Given the description of an element on the screen output the (x, y) to click on. 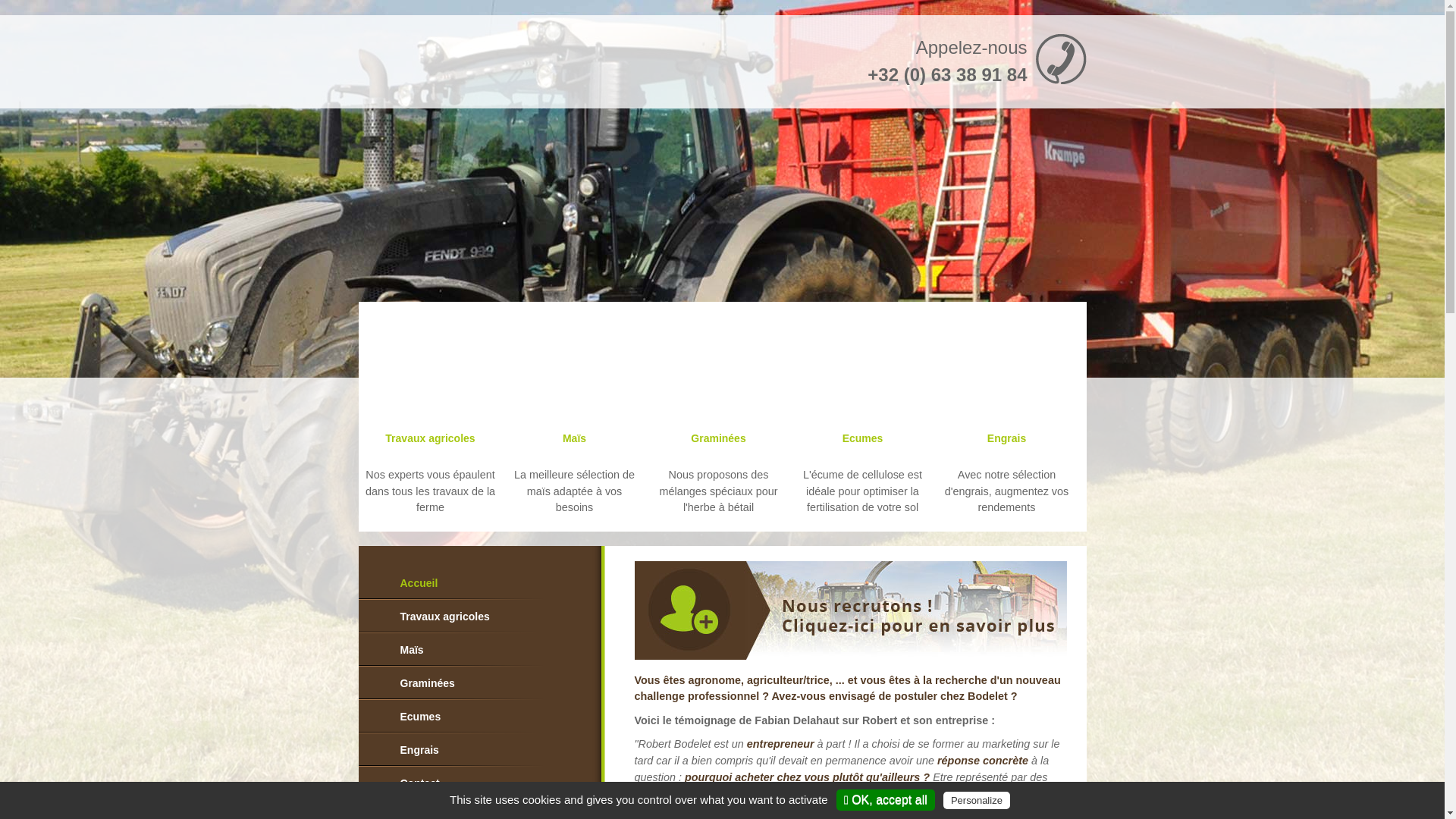
+32 (0) 63 38 91 84 Element type: text (946, 74)
Bodelet SCRL recrute ! Element type: hover (849, 610)
Travaux agricoles Element type: text (453, 616)
Engrais Element type: text (453, 749)
Accueil Element type: text (453, 582)
Personalize Element type: text (976, 800)
Contact Element type: text (453, 783)
Bodelet Scrl Travaux agricoles, semences, engrais Element type: text (509, 58)
Ecumes Element type: text (453, 716)
